Given the description of an element on the screen output the (x, y) to click on. 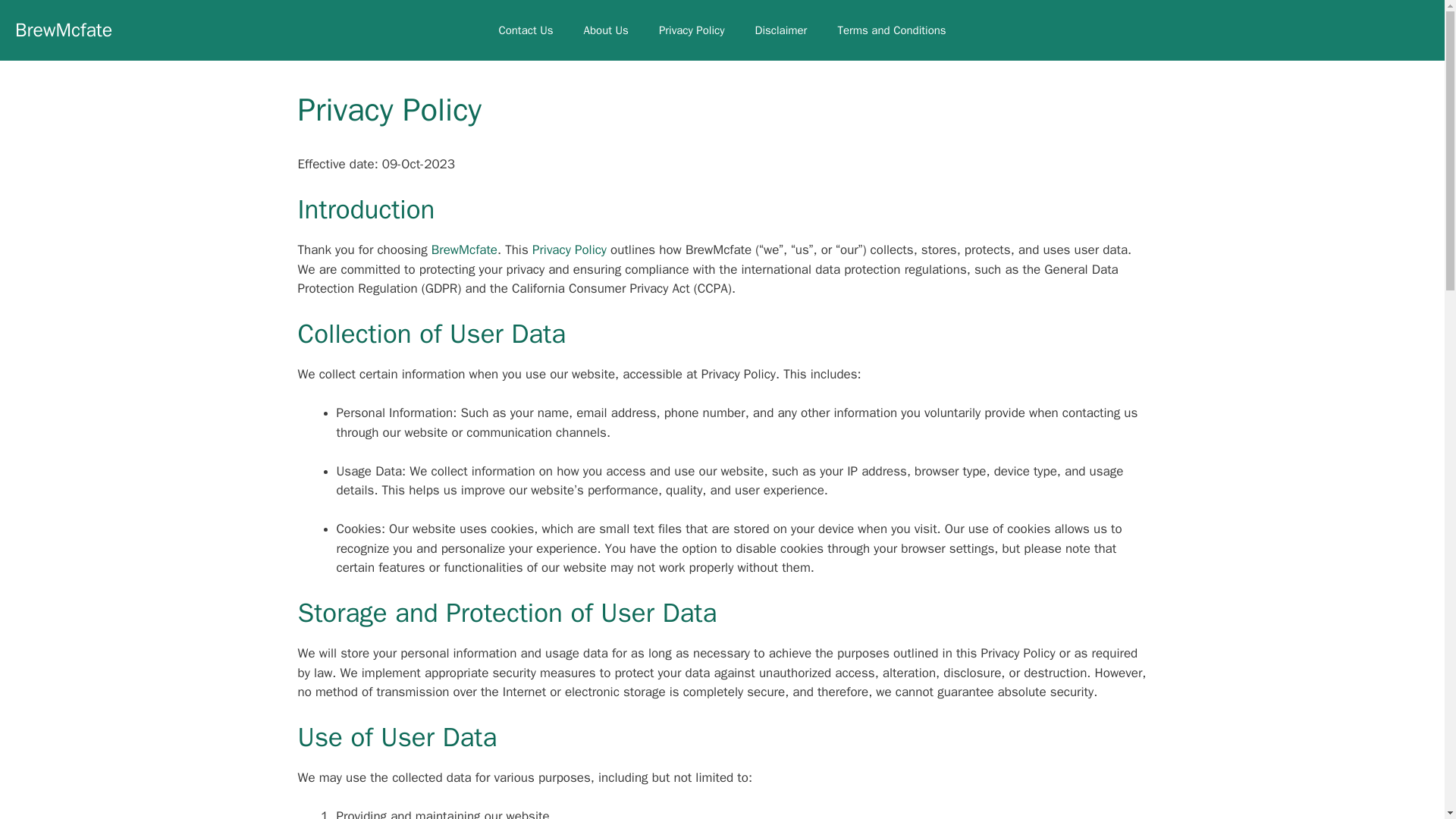
Privacy Policy (569, 249)
Privacy Policy (691, 30)
Contact Us (525, 30)
BrewMcfate (63, 30)
BrewMcfate (463, 249)
About Us (606, 30)
Terms and Conditions (891, 30)
Privacy Policy (569, 249)
BrewMcfate (463, 249)
Disclaimer (780, 30)
